Given the description of an element on the screen output the (x, y) to click on. 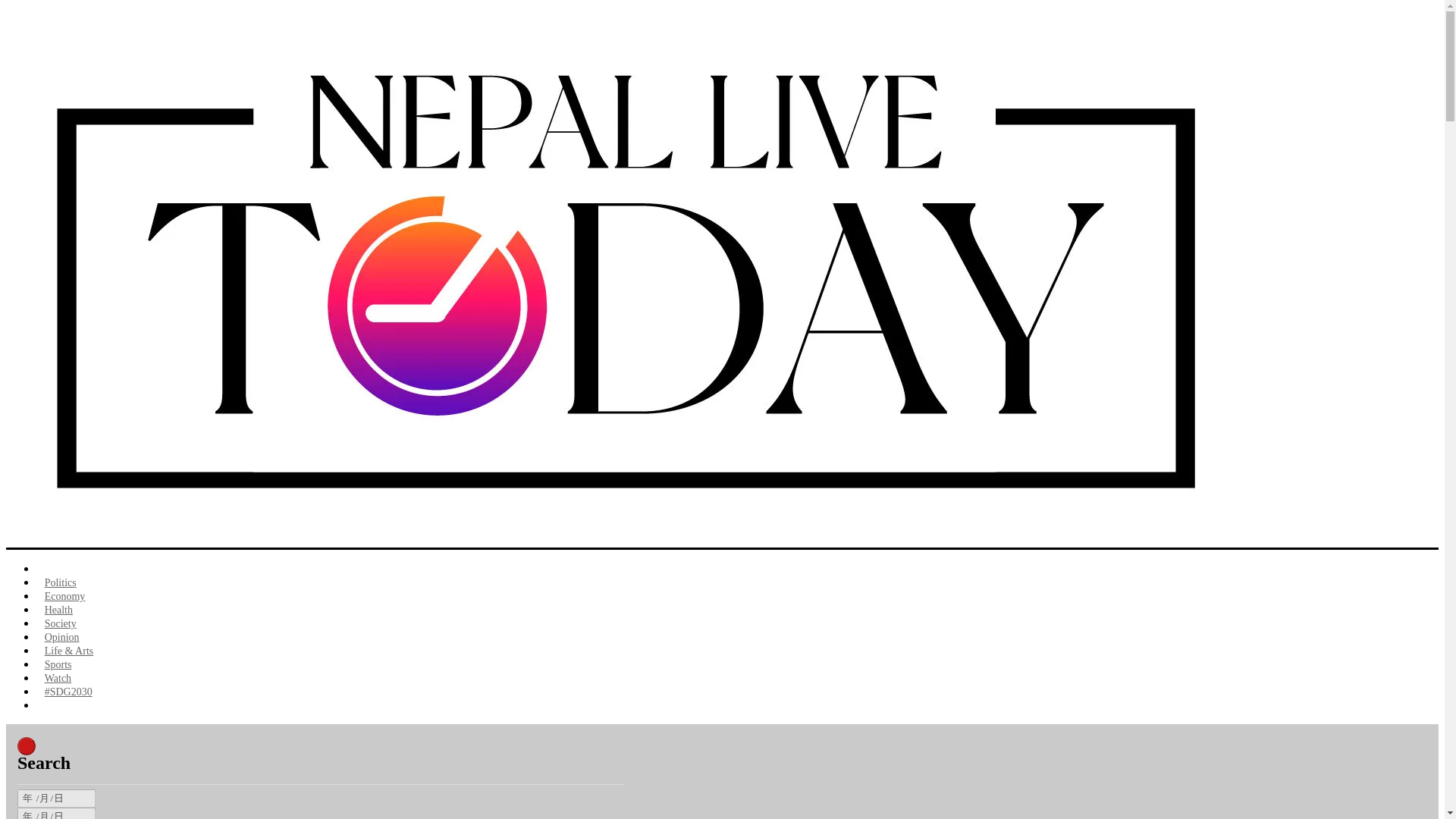
Health (58, 609)
Sports (58, 664)
Watch (58, 677)
Politics (60, 582)
Society (60, 623)
Opinion (61, 636)
Economy (64, 595)
